Given the description of an element on the screen output the (x, y) to click on. 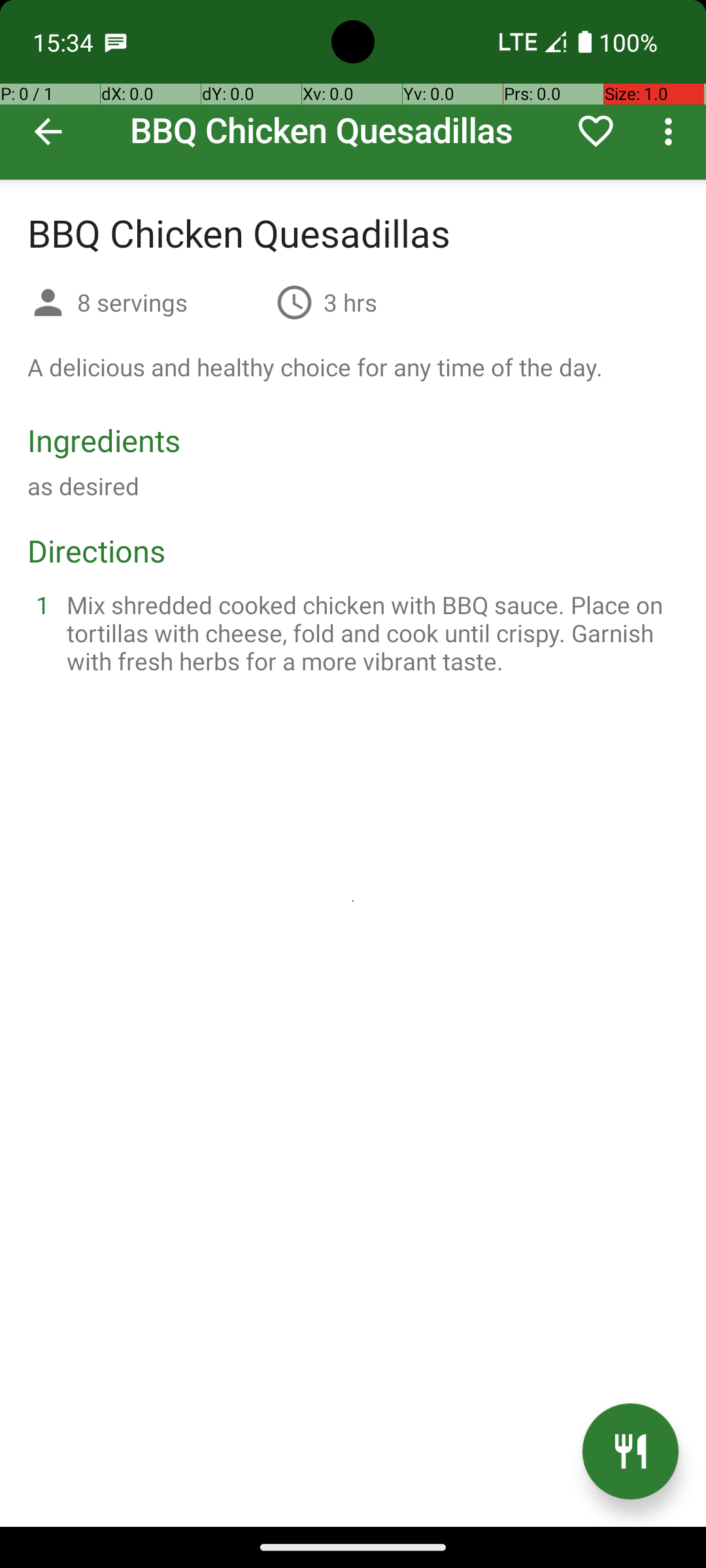
Mix shredded cooked chicken with BBQ sauce. Place on tortillas with cheese, fold and cook until crispy. Garnish with fresh herbs for a more vibrant taste. Element type: android.widget.TextView (368, 632)
